Given the description of an element on the screen output the (x, y) to click on. 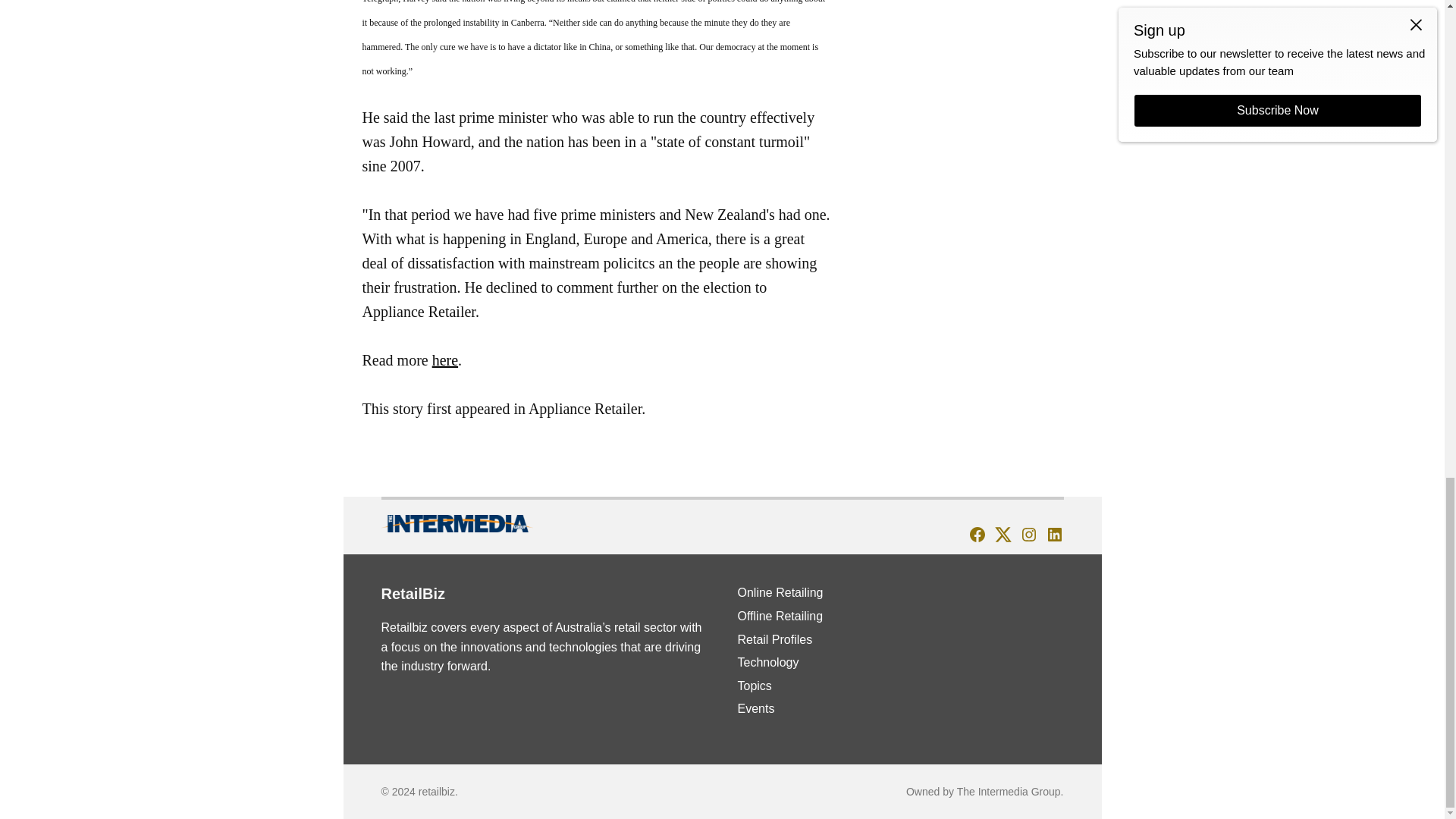
3rd party ad content (969, 65)
